Given the description of an element on the screen output the (x, y) to click on. 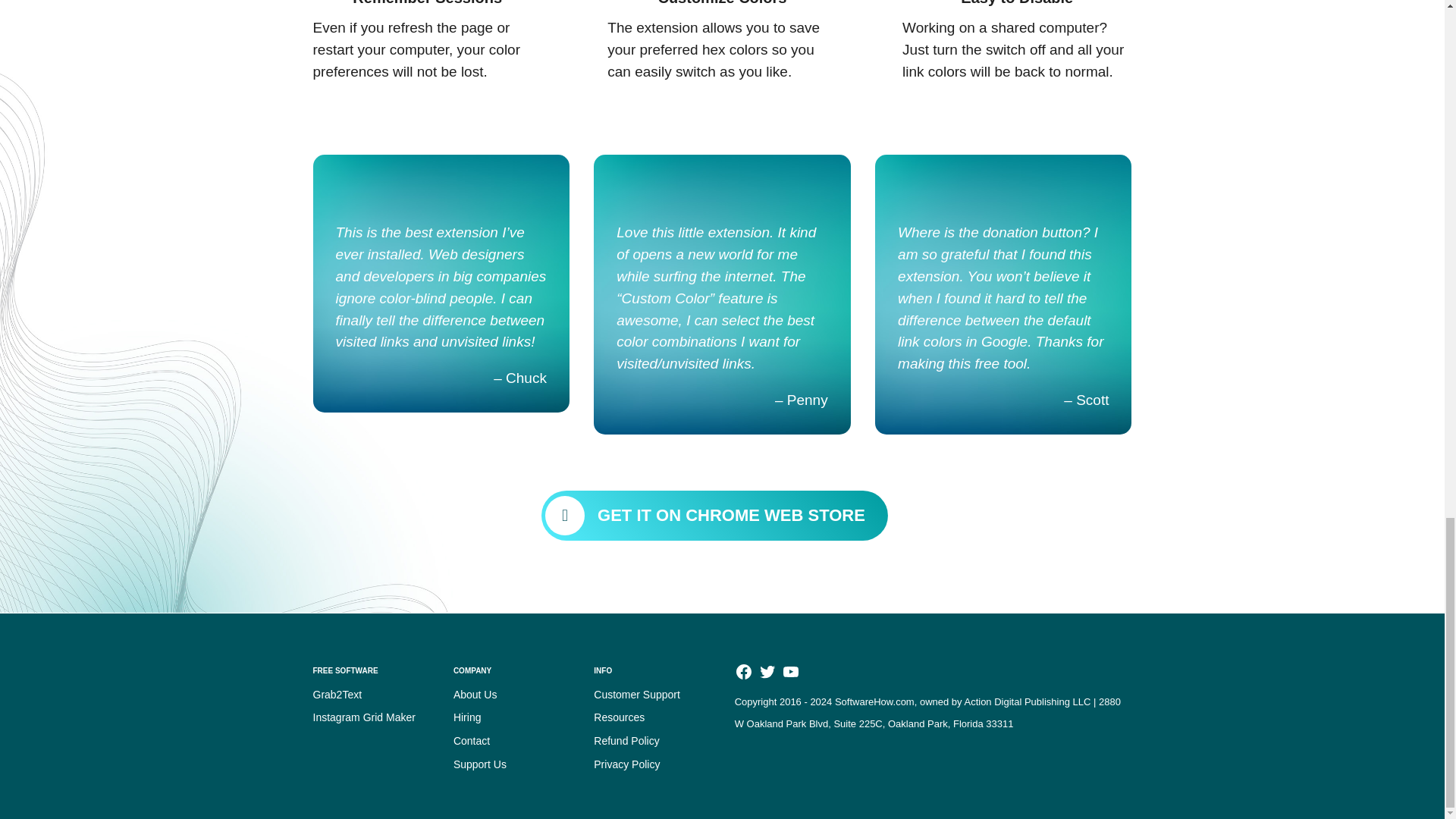
Refund Policy (626, 740)
Instagram Grid Maker (363, 717)
Privacy Policy (626, 764)
Contact (470, 740)
GET IT ON CHROME WEB STORE (714, 515)
Resources (619, 717)
About Us (474, 694)
YouTube (790, 676)
Support Us (479, 764)
Facebook (743, 676)
Twitter (767, 676)
Customer Support (636, 694)
Hiring (466, 717)
Grab2Text (337, 694)
